Given the description of an element on the screen output the (x, y) to click on. 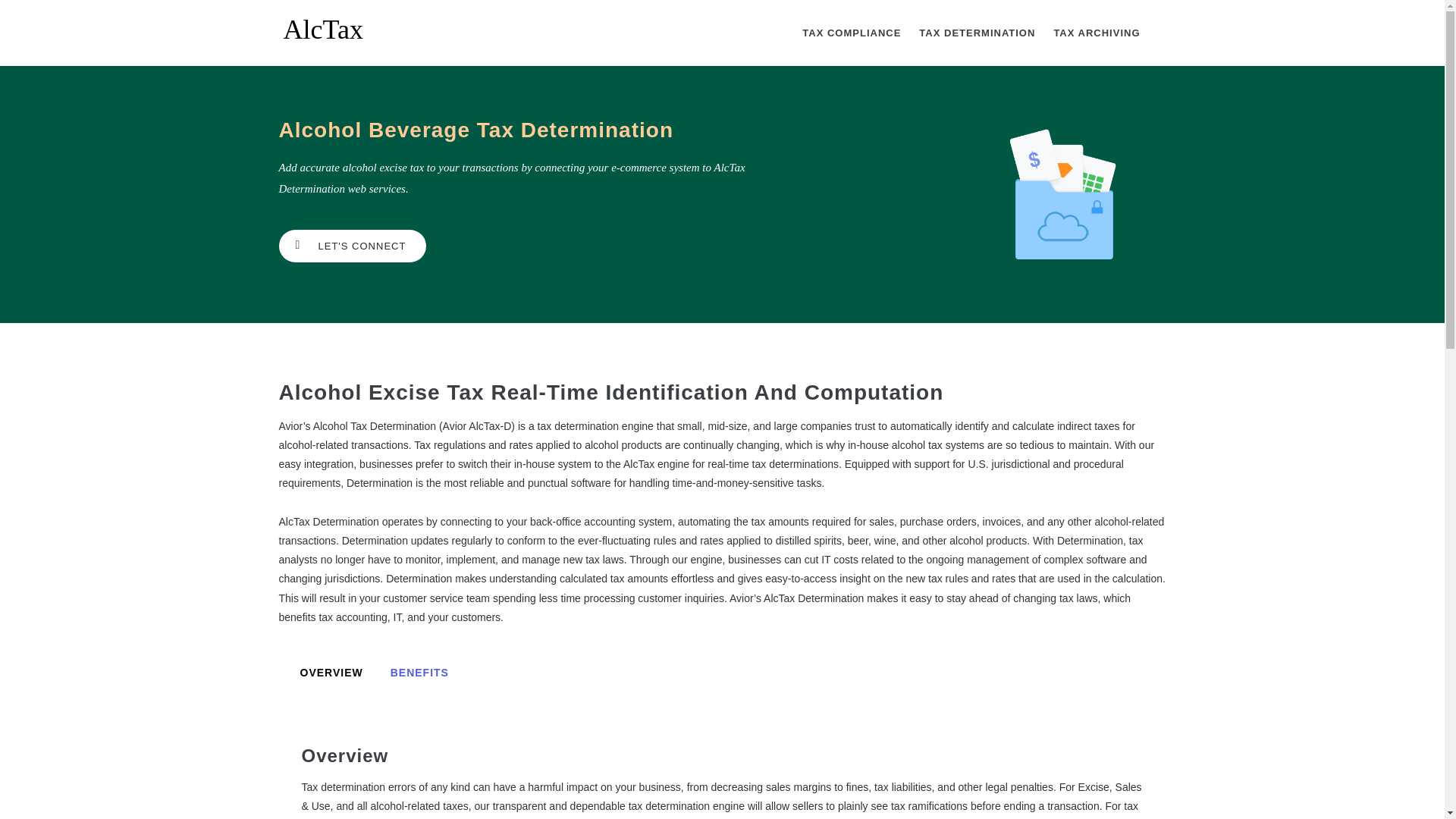
TAX COMPLIANCE (851, 33)
LET'S CONNECT (352, 246)
Home (336, 24)
OVERVIEW (331, 672)
TAX DETERMINATION (976, 33)
BENEFITS (420, 672)
TAX ARCHIVING (1095, 33)
